Given the description of an element on the screen output the (x, y) to click on. 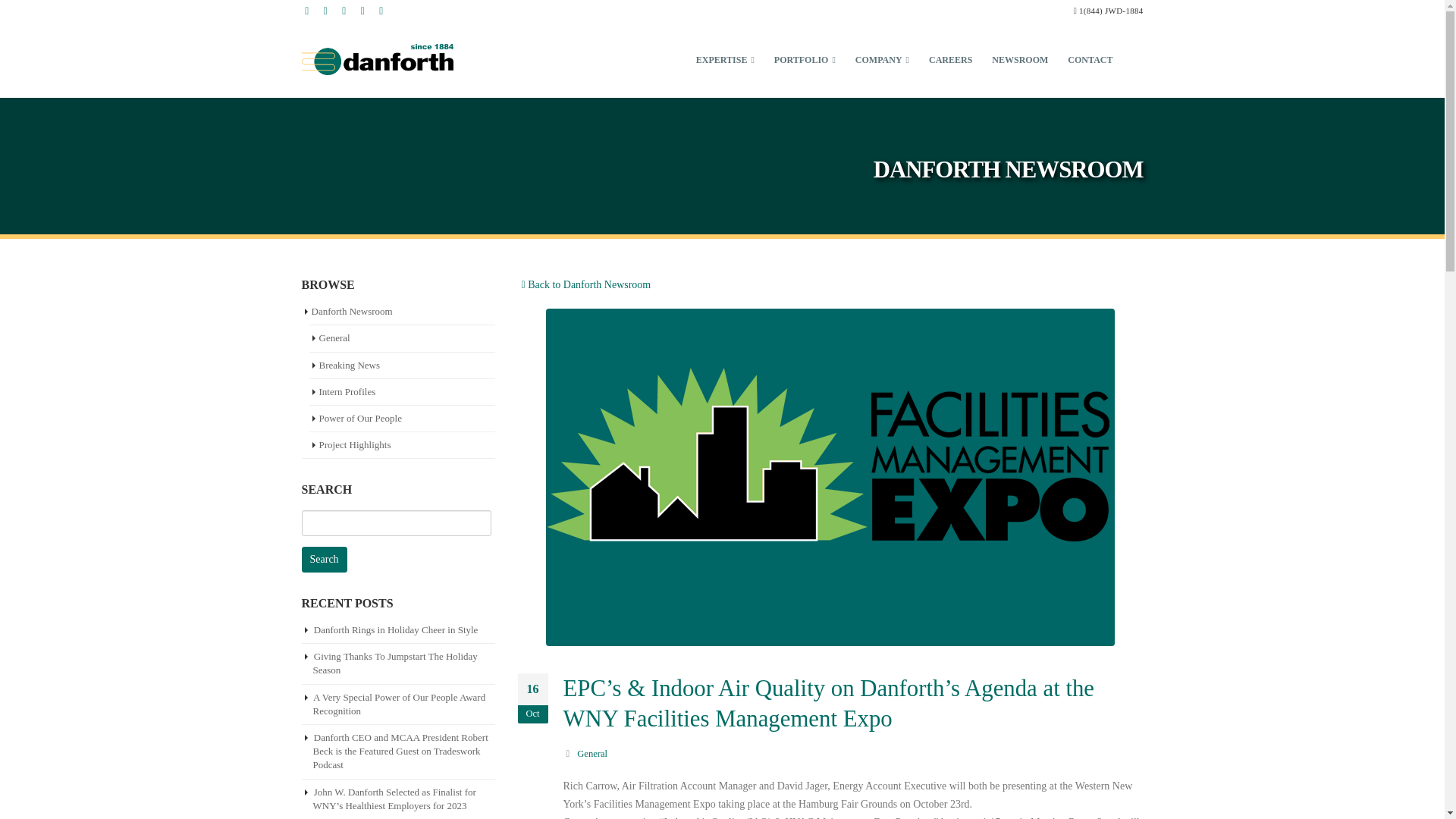
Youtube (343, 10)
Twitter (324, 10)
EXPERTISE (724, 59)
LinkedIn (380, 10)
Instagram (362, 10)
Search (324, 559)
Facebook (306, 10)
PORTFOLIO (804, 59)
